Given the description of an element on the screen output the (x, y) to click on. 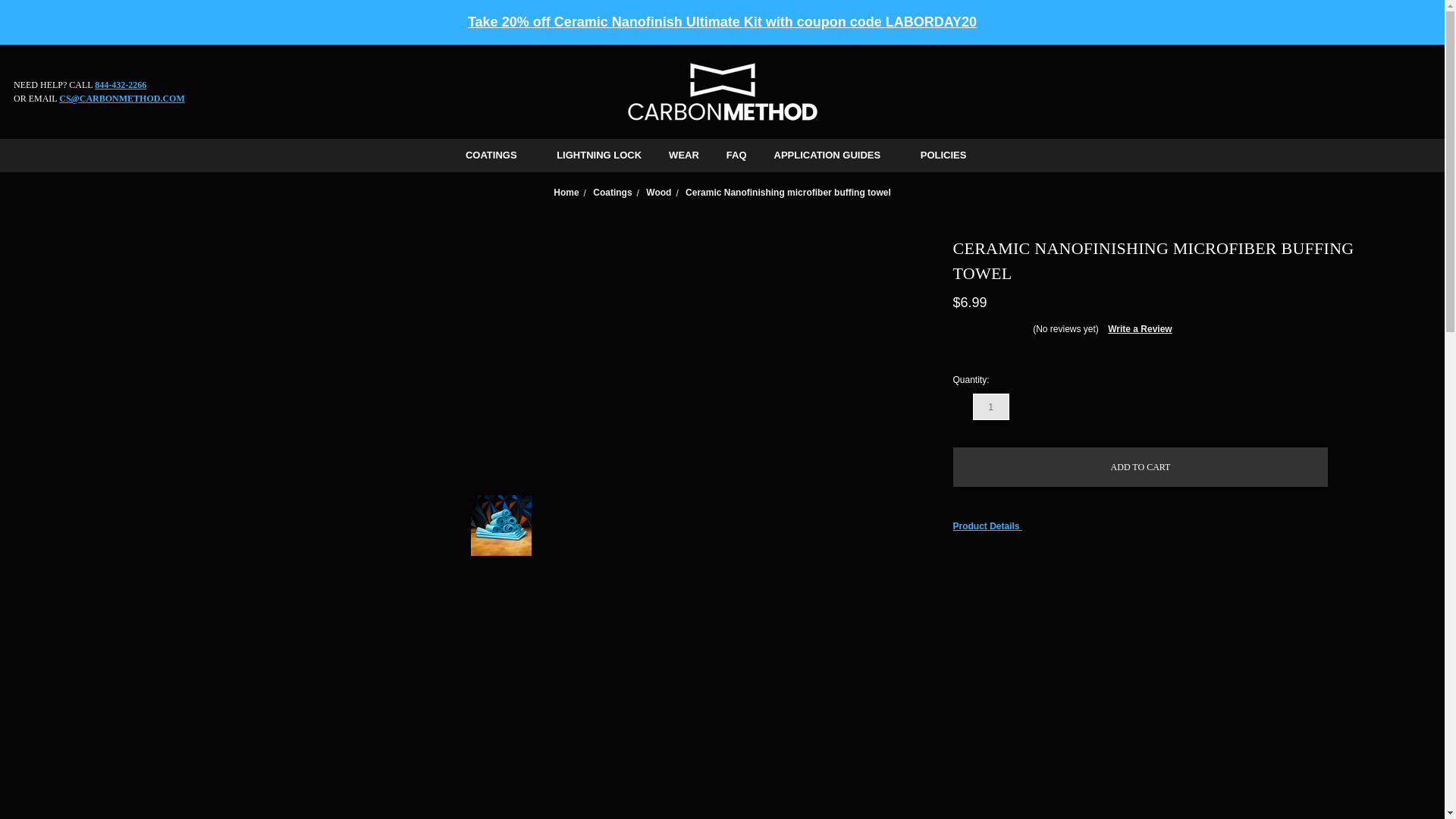
Ceramic Nanofinishing microfiber buffing towel (788, 191)
FAQ (736, 154)
LIGHTNING LOCK (599, 154)
1 (990, 406)
Ceramic Nanofinishing microfiber buffing towel (500, 524)
Home (565, 191)
COATINGS (497, 154)
Add to Cart (1140, 466)
Product Details (1165, 526)
Wood (658, 191)
